Given the description of an element on the screen output the (x, y) to click on. 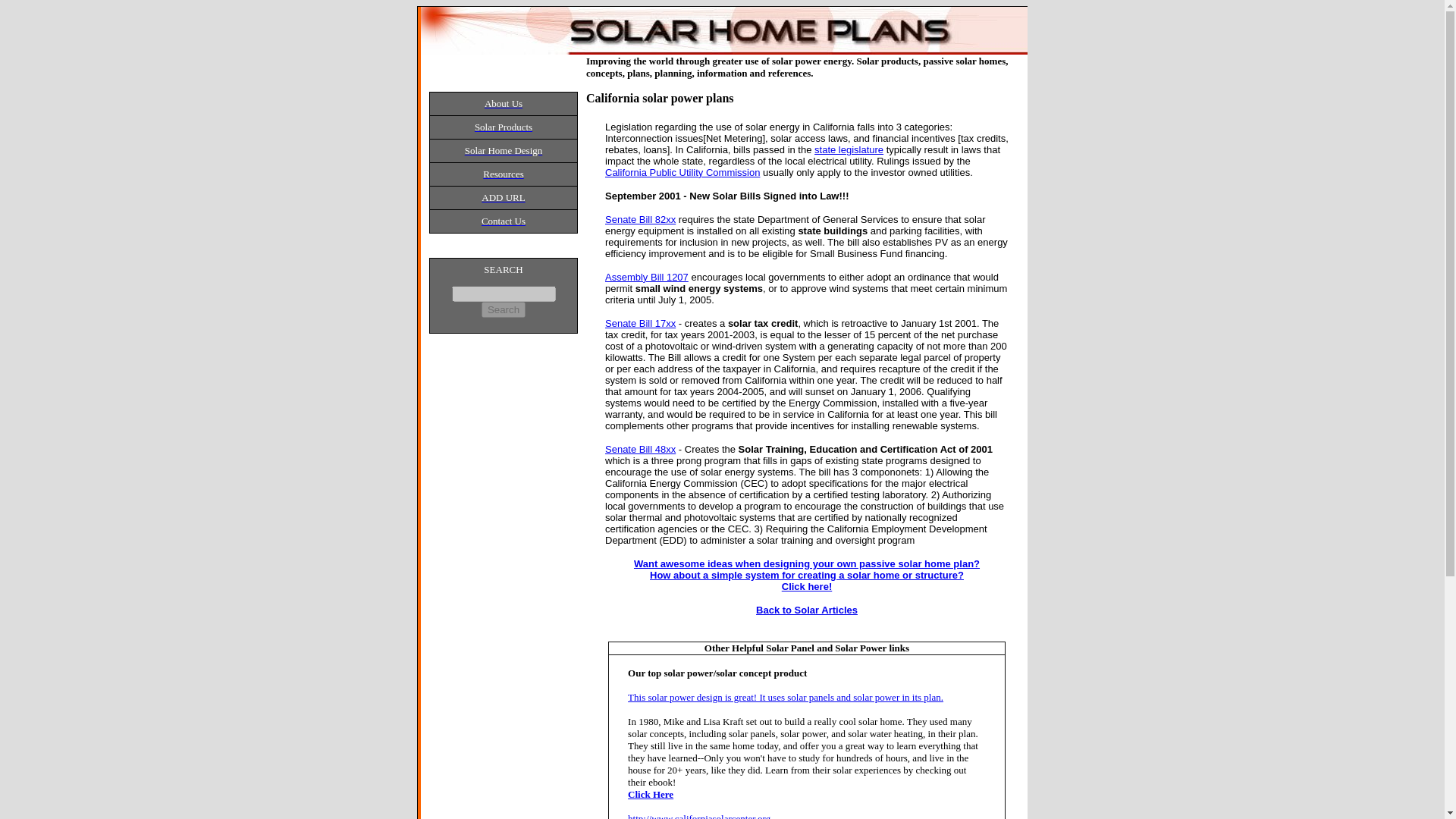
Resources (502, 173)
state legislature (848, 149)
Back to Solar Articles (806, 609)
Solar Products (503, 126)
Senate Bill 82xx (640, 219)
Senate Bill 48xx (640, 449)
Search (503, 309)
Assembly Bill 1207 (646, 276)
California Public Utility Commission (682, 172)
